Given the description of an element on the screen output the (x, y) to click on. 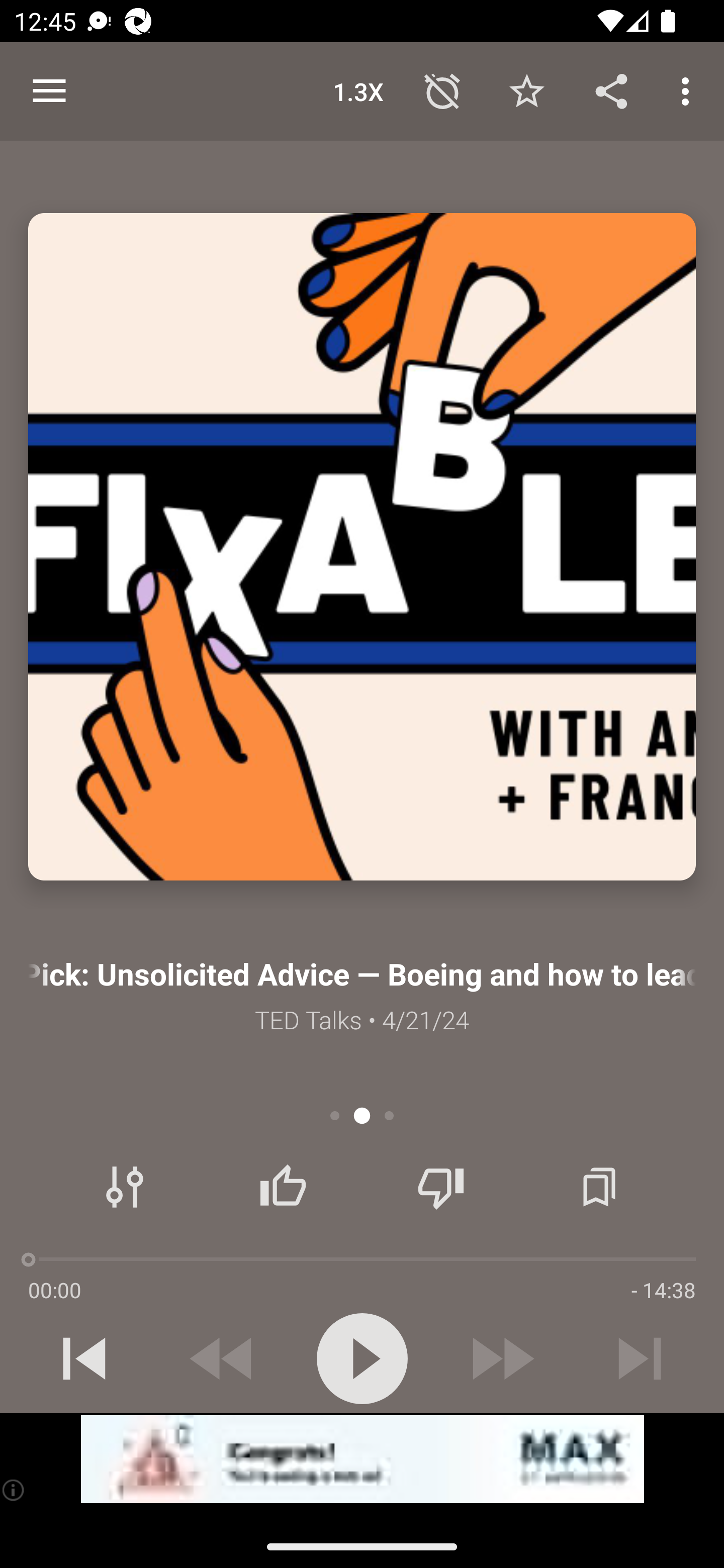
Open navigation sidebar (49, 91)
1.3X (357, 90)
Sleep Timer (442, 90)
Favorite (526, 90)
Share (611, 90)
More options (688, 90)
Episode description (361, 547)
Audio effects (124, 1186)
Thumbs up (283, 1186)
Thumbs down (440, 1186)
Chapters / Bookmarks (598, 1186)
- 14:38 (663, 1289)
Previous track (84, 1358)
Skip 15s backward (222, 1358)
Play / Pause (362, 1358)
Skip 30s forward (500, 1358)
Next track (639, 1358)
app-monetization (362, 1459)
(i) (14, 1489)
